Given the description of an element on the screen output the (x, y) to click on. 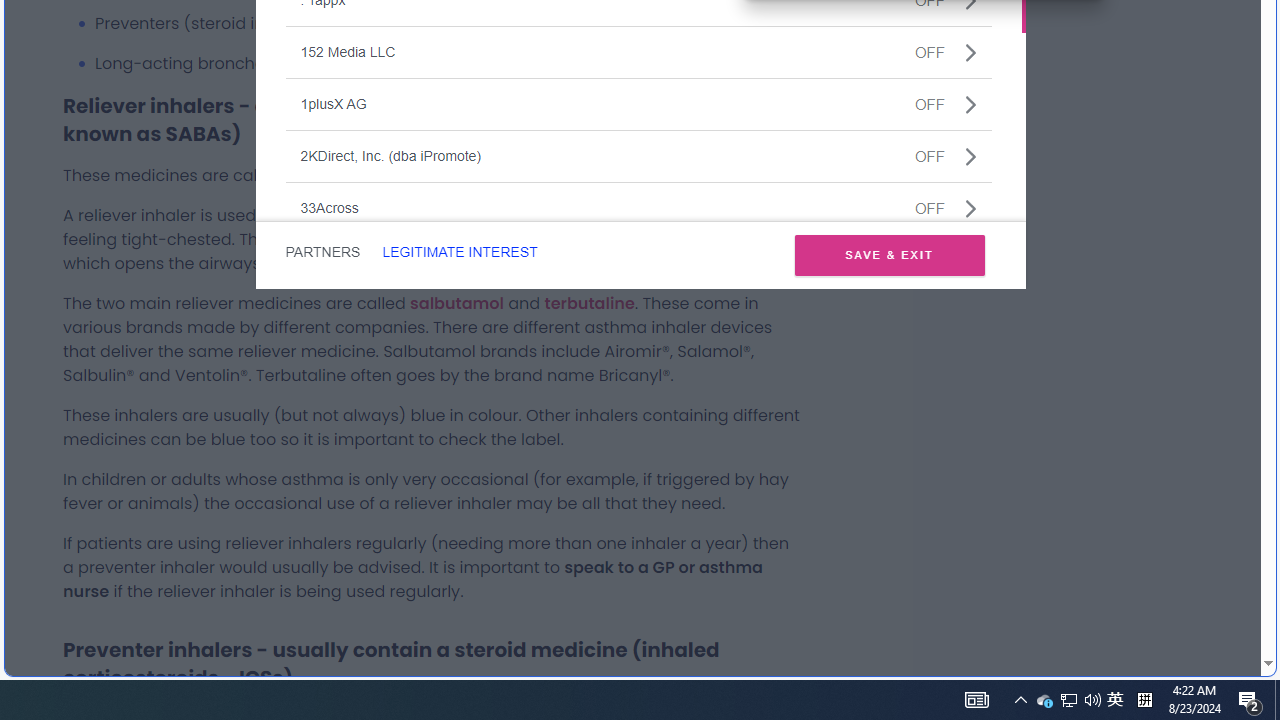
terbutaline (589, 302)
PARTNERS (322, 251)
33AcrossOFF (638, 208)
2KDirect, Inc. (dba iPromote)OFF (638, 155)
LEGITIMATE INTEREST (459, 251)
